Given the description of an element on the screen output the (x, y) to click on. 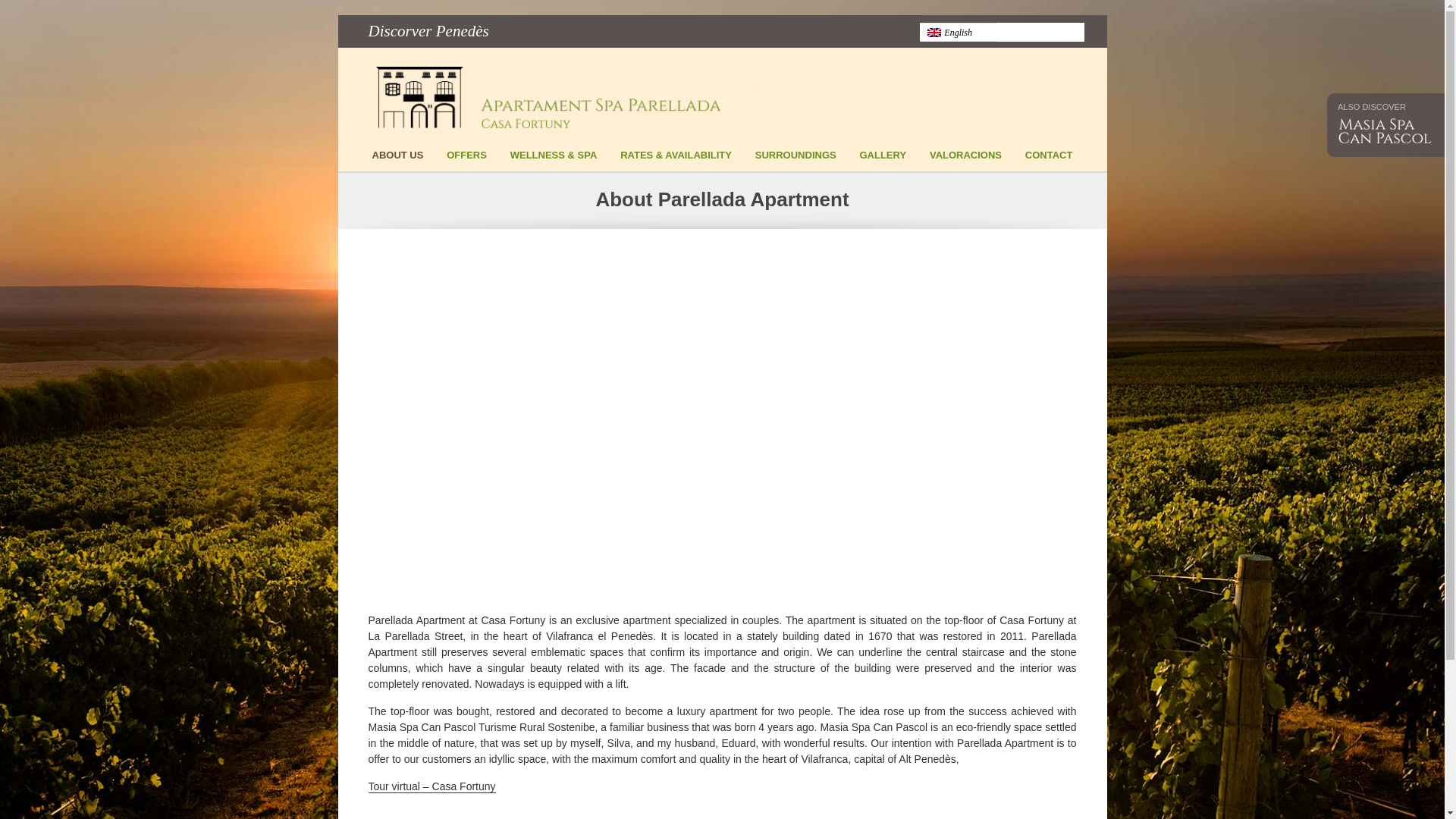
English (933, 31)
APARTAMENT SPA PARELLADA CASA FORTUNY (565, 98)
OFFERS (466, 160)
Apartament Spa Parellada Casa Fortuny (565, 98)
ABOUT US (397, 160)
VALORACIONS (965, 160)
CONTACT (1049, 160)
English (956, 31)
SURROUNDINGS (795, 160)
GALLERY (882, 160)
